Given the description of an element on the screen output the (x, y) to click on. 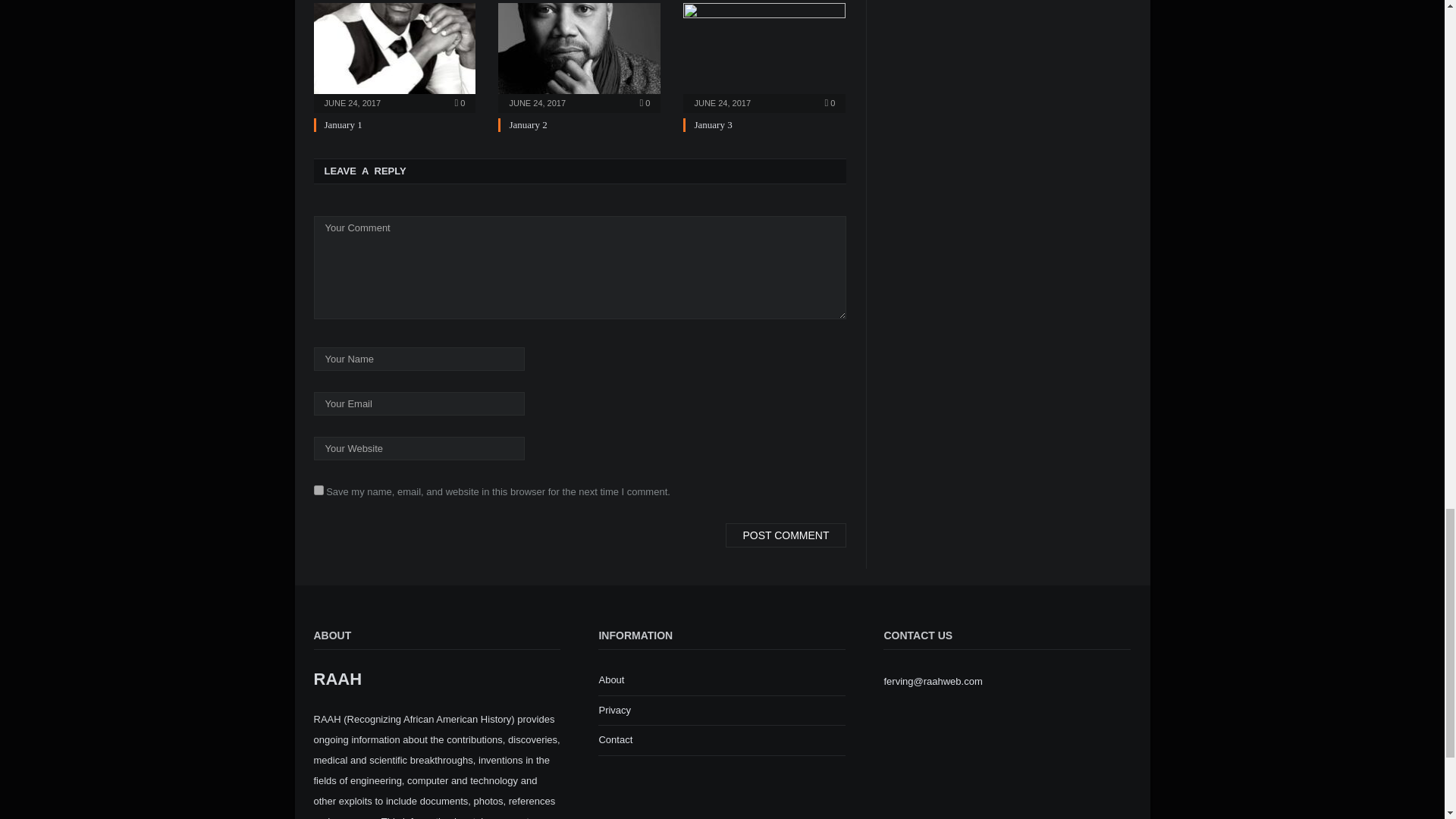
Post Comment (785, 535)
yes (318, 490)
